Given the description of an element on the screen output the (x, y) to click on. 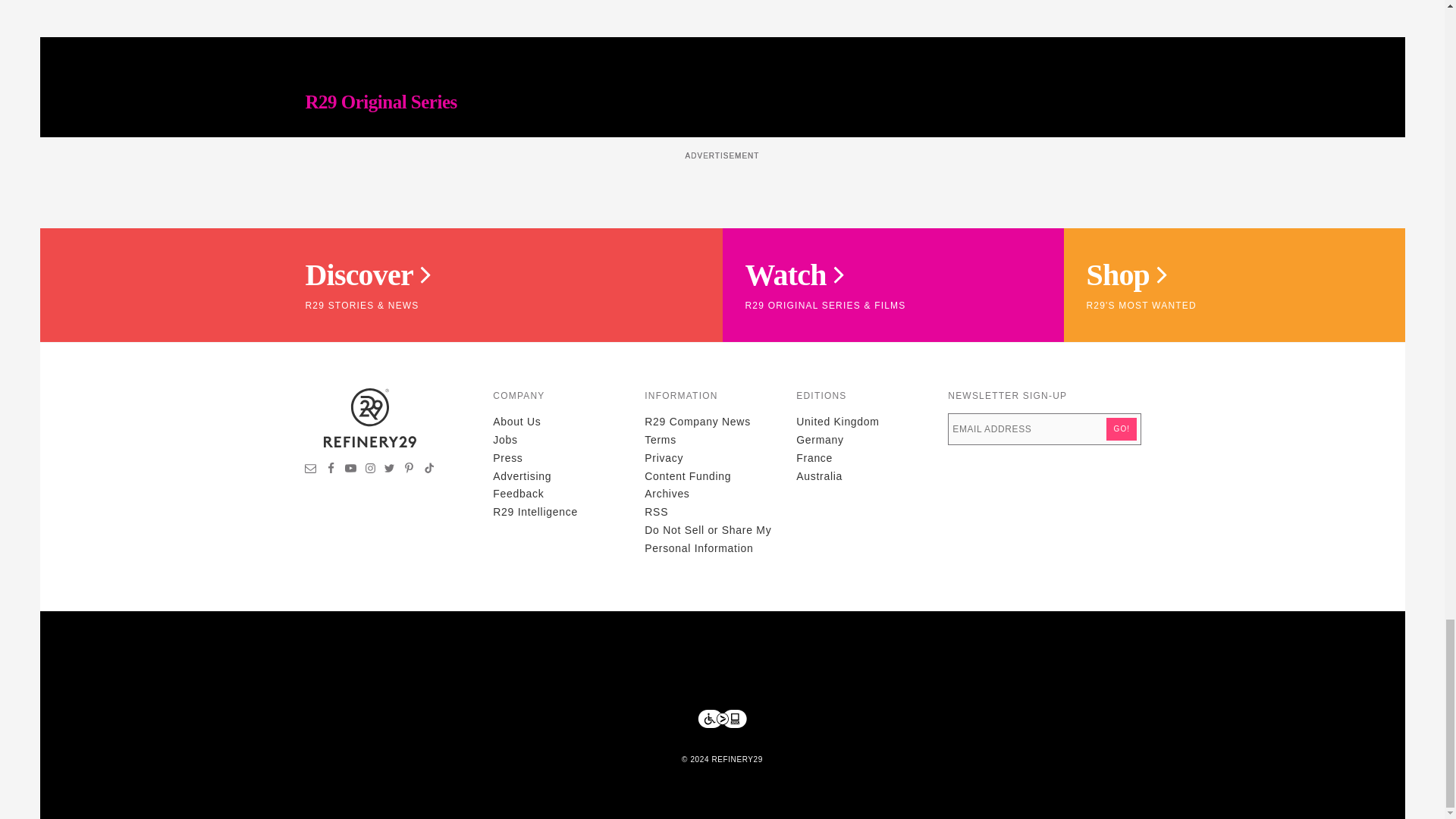
Visit Refinery29 on TikTok (428, 469)
Sign up for newsletters (310, 469)
Visit Refinery29 on YouTube (350, 469)
